Given the description of an element on the screen output the (x, y) to click on. 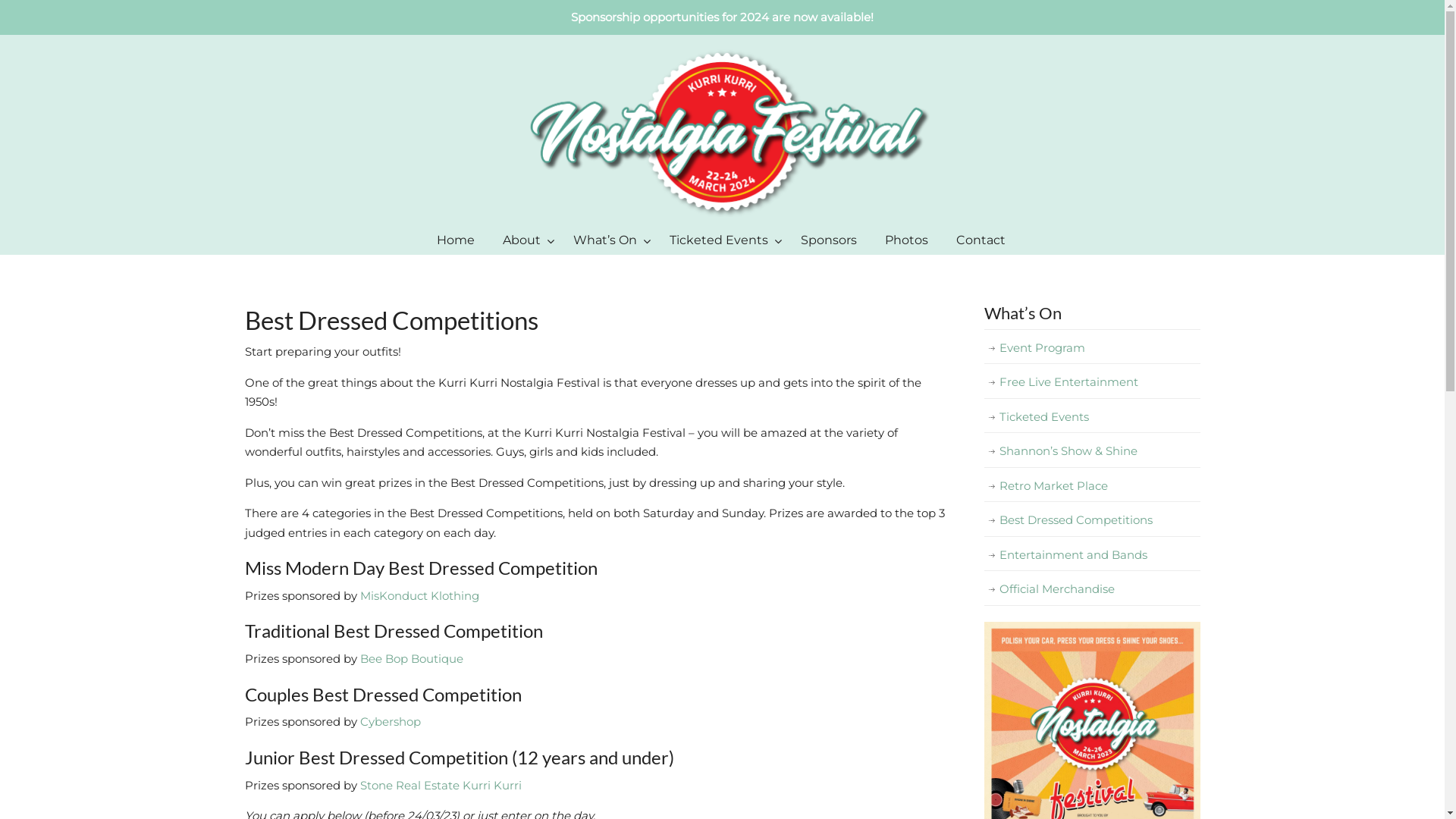
Event Program Element type: text (1092, 347)
About Element type: text (523, 240)
Stone Real Estate Kurri Kurri  Element type: text (441, 785)
Official Merchandise Element type: text (1092, 588)
Ticketed Events Element type: text (720, 240)
Photos Element type: text (906, 240)
Sponsors Element type: text (828, 240)
Cybershop Element type: text (389, 721)
Entertainment and Bands Element type: text (1092, 554)
Ticketed Events Element type: text (1092, 416)
Kurri Kurri Nostalgia Festival Element type: text (721, 130)
Free Live Entertainment Element type: text (1092, 381)
Bee Bop Boutique Element type: text (410, 658)
Best Dressed Competitions Element type: text (1092, 519)
Sponsorship opportunities for 2024 are now available! Element type: text (722, 16)
Contact Element type: text (980, 240)
MisKonduct Klothing Element type: text (418, 595)
Retro Market Place Element type: text (1092, 485)
Home Element type: text (455, 240)
